Given the description of an element on the screen output the (x, y) to click on. 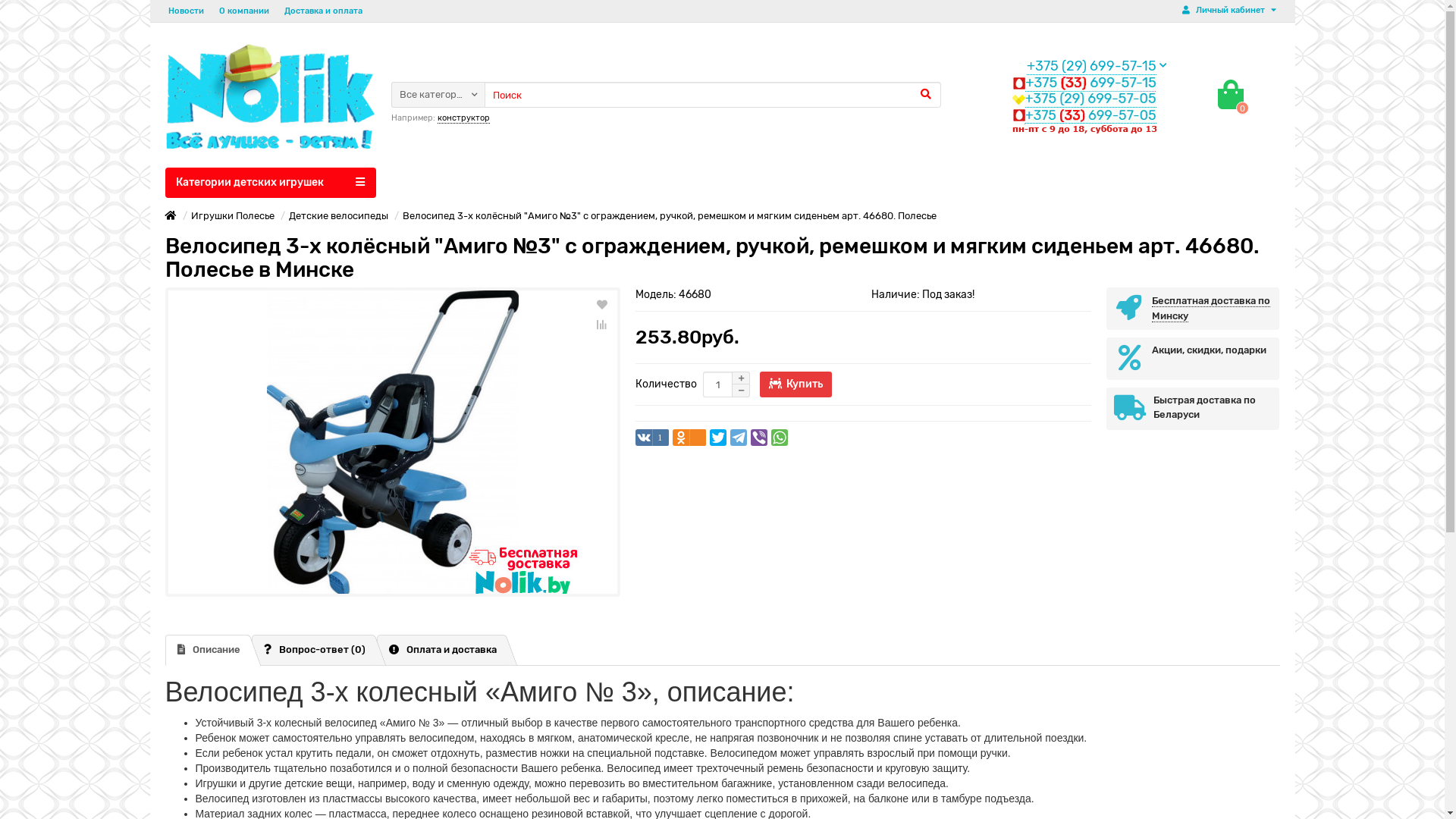
0 Element type: text (1230, 94)
